Given the description of an element on the screen output the (x, y) to click on. 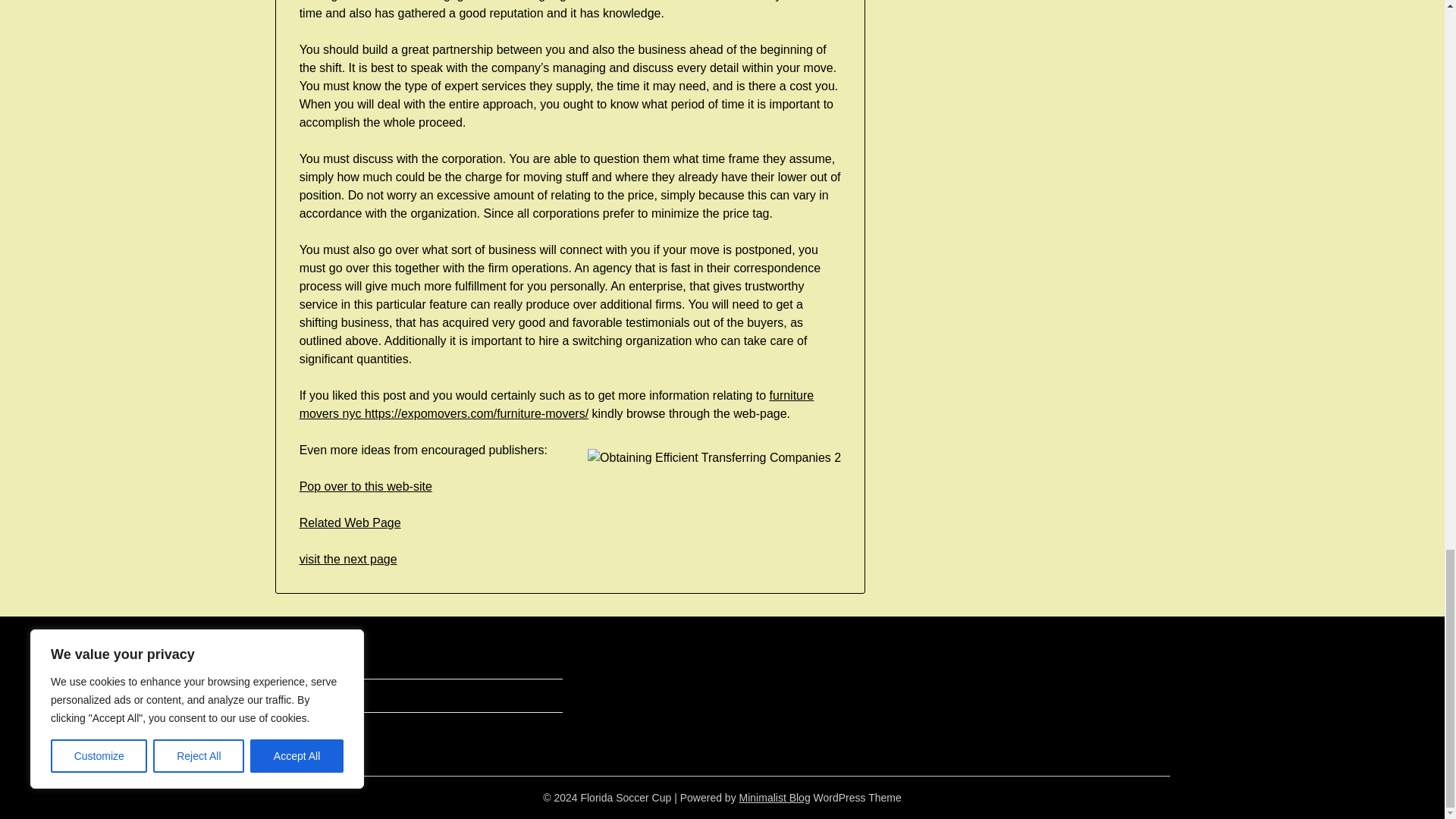
Related Web Page (350, 522)
Pop over to this web-site (365, 486)
visit the next page (348, 558)
